Given the description of an element on the screen output the (x, y) to click on. 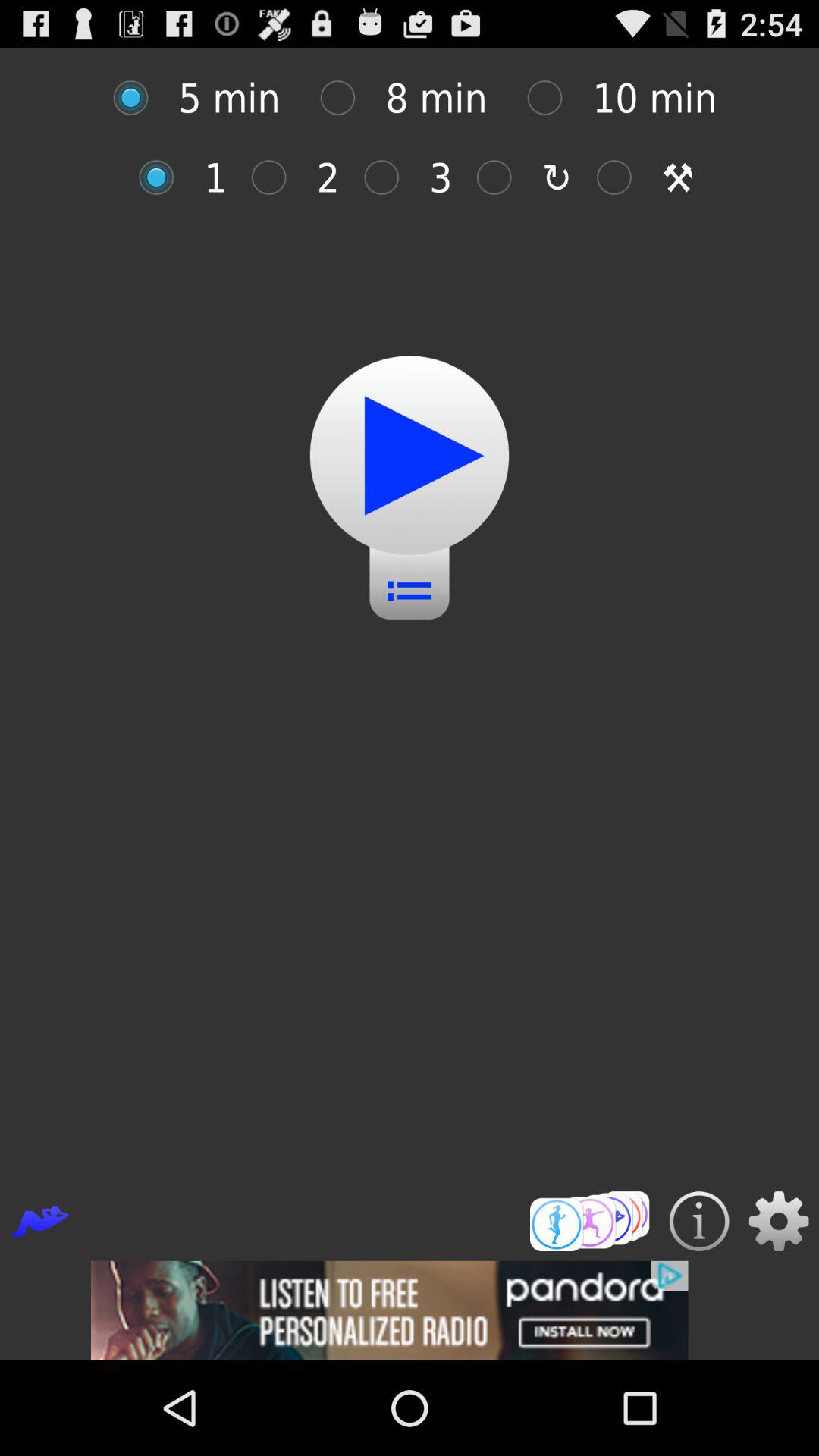
tata and storge usage (622, 177)
